Given the description of an element on the screen output the (x, y) to click on. 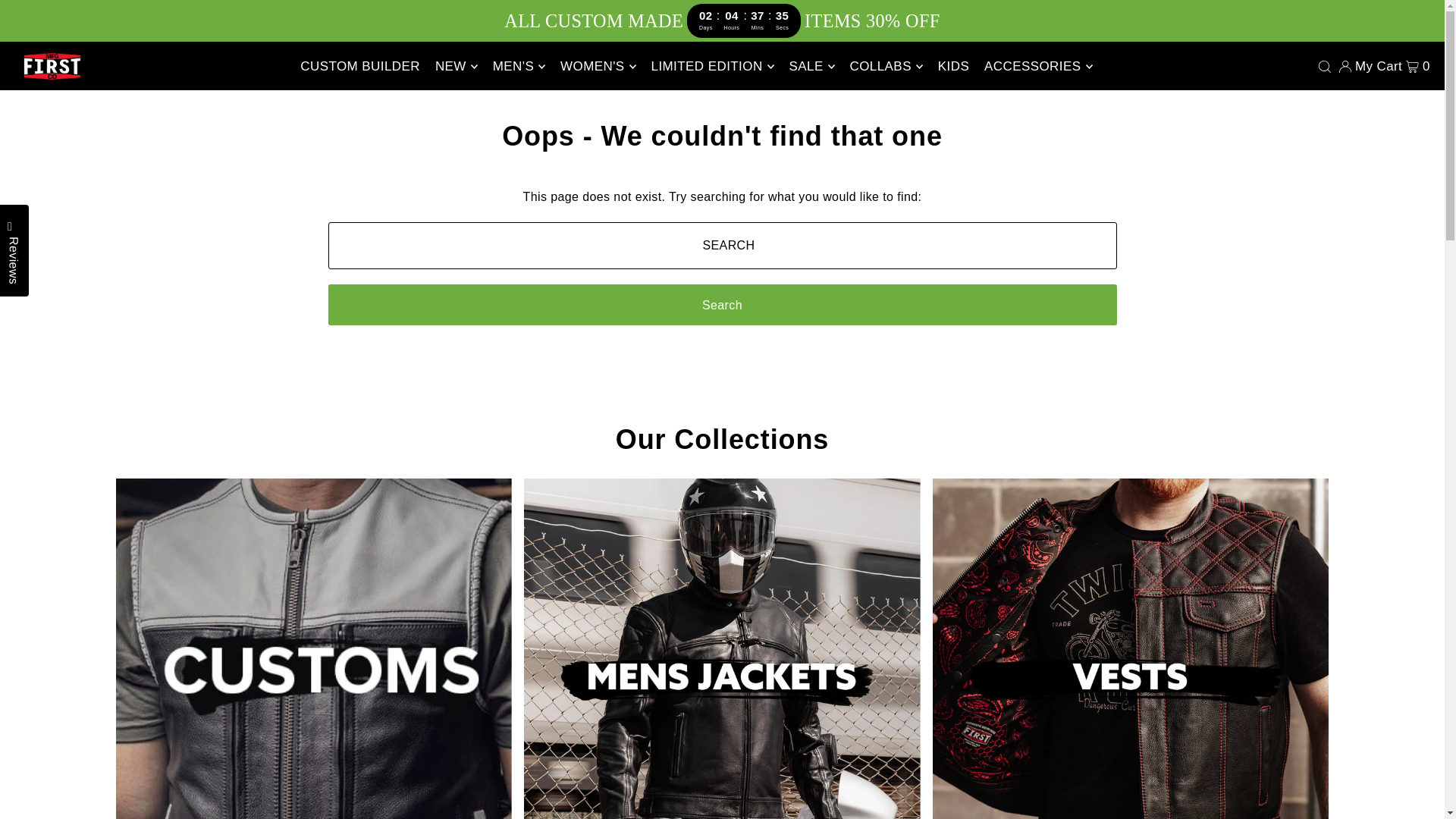
Search (721, 304)
CUSTOM BUILDER (359, 66)
MEN'S (519, 66)
NEW (456, 66)
